Given the description of an element on the screen output the (x, y) to click on. 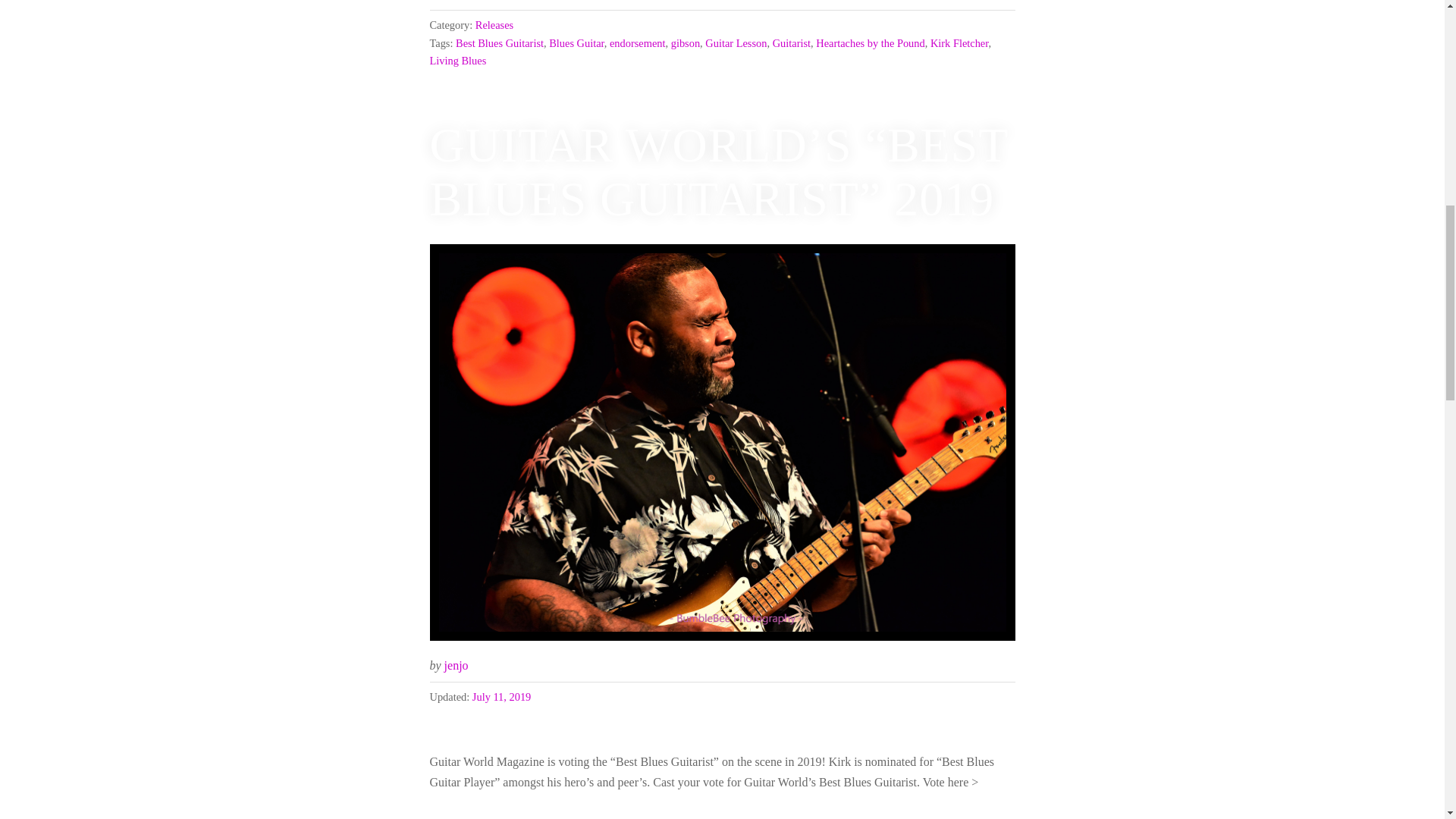
Kirk Fletcher (959, 42)
Releases (494, 24)
gibson (685, 42)
Heartaches by the Pound (869, 42)
July 11, 2019 (501, 696)
Guitarist (791, 42)
Posts by jenjo (456, 665)
Best Blues Guitarist (499, 42)
jenjo (456, 665)
endorsement (637, 42)
Living Blues (457, 60)
Guitar Lesson (735, 42)
3:44 AM (501, 696)
Blues Guitar (576, 42)
